Given the description of an element on the screen output the (x, y) to click on. 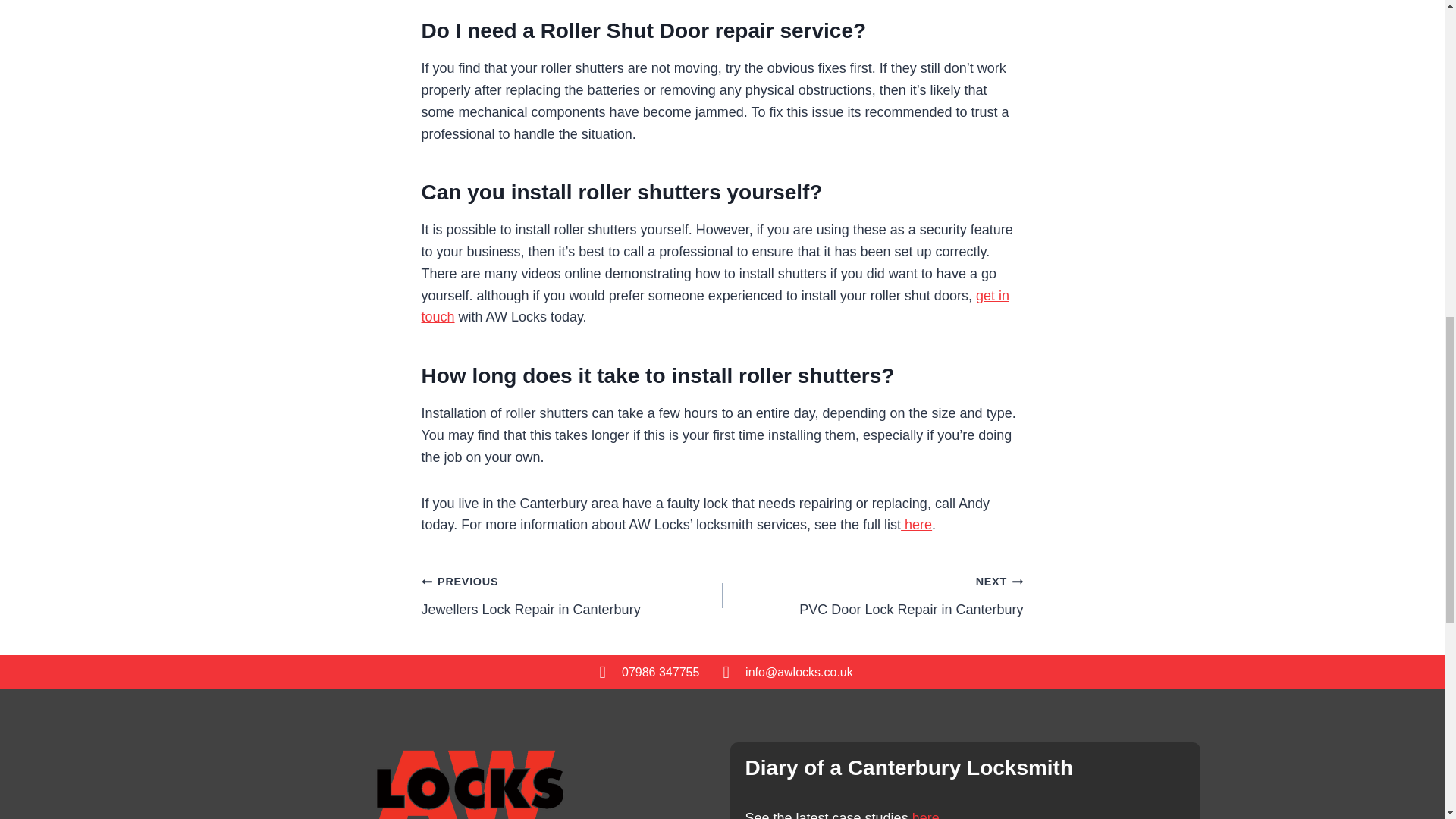
here (916, 524)
here (872, 595)
get in touch (923, 814)
